Given the description of an element on the screen output the (x, y) to click on. 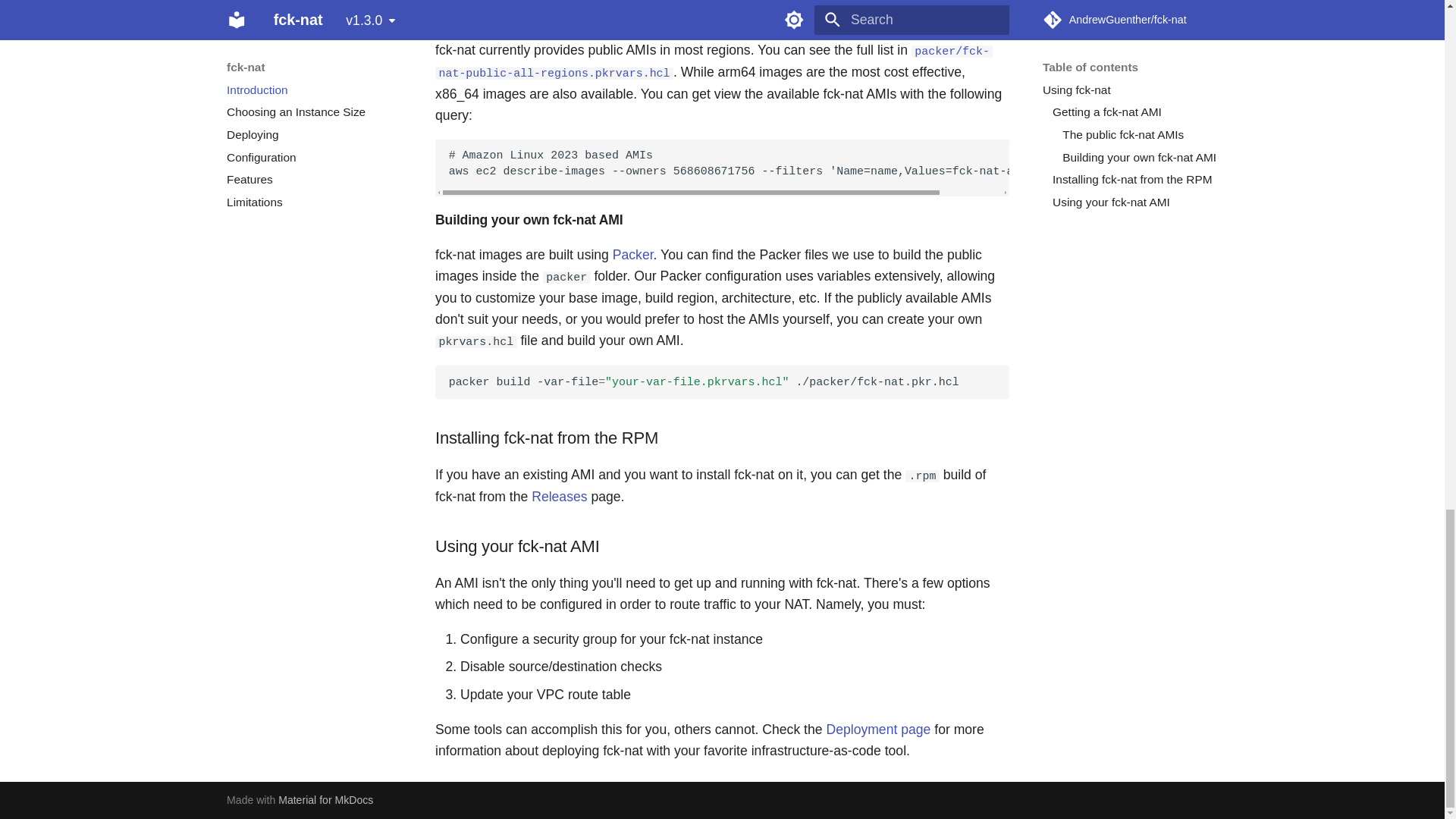
Releases (558, 496)
Material for MkDocs (325, 799)
Deployment page (877, 729)
Packer (632, 254)
